Given the description of an element on the screen output the (x, y) to click on. 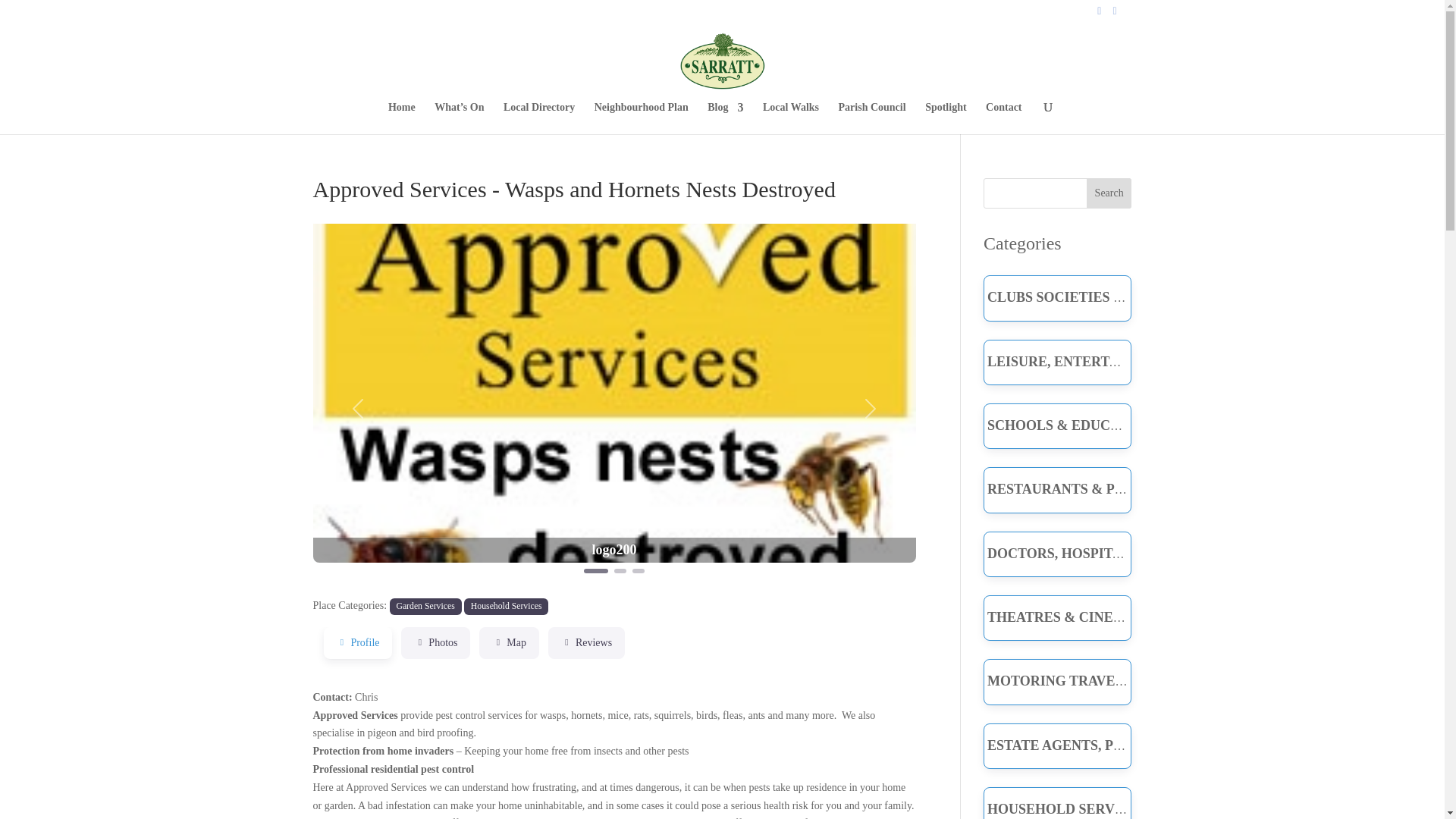
Search (1109, 193)
Photos (435, 643)
Neighbourhood Plan (641, 118)
Search (1109, 193)
Spotlight (945, 118)
Map (508, 643)
Garden Services (425, 606)
Reviews (586, 643)
Photos (435, 643)
Local Walks (790, 118)
Blog (724, 118)
Local Directory (539, 118)
Contact (1003, 118)
Map (508, 643)
